Given the description of an element on the screen output the (x, y) to click on. 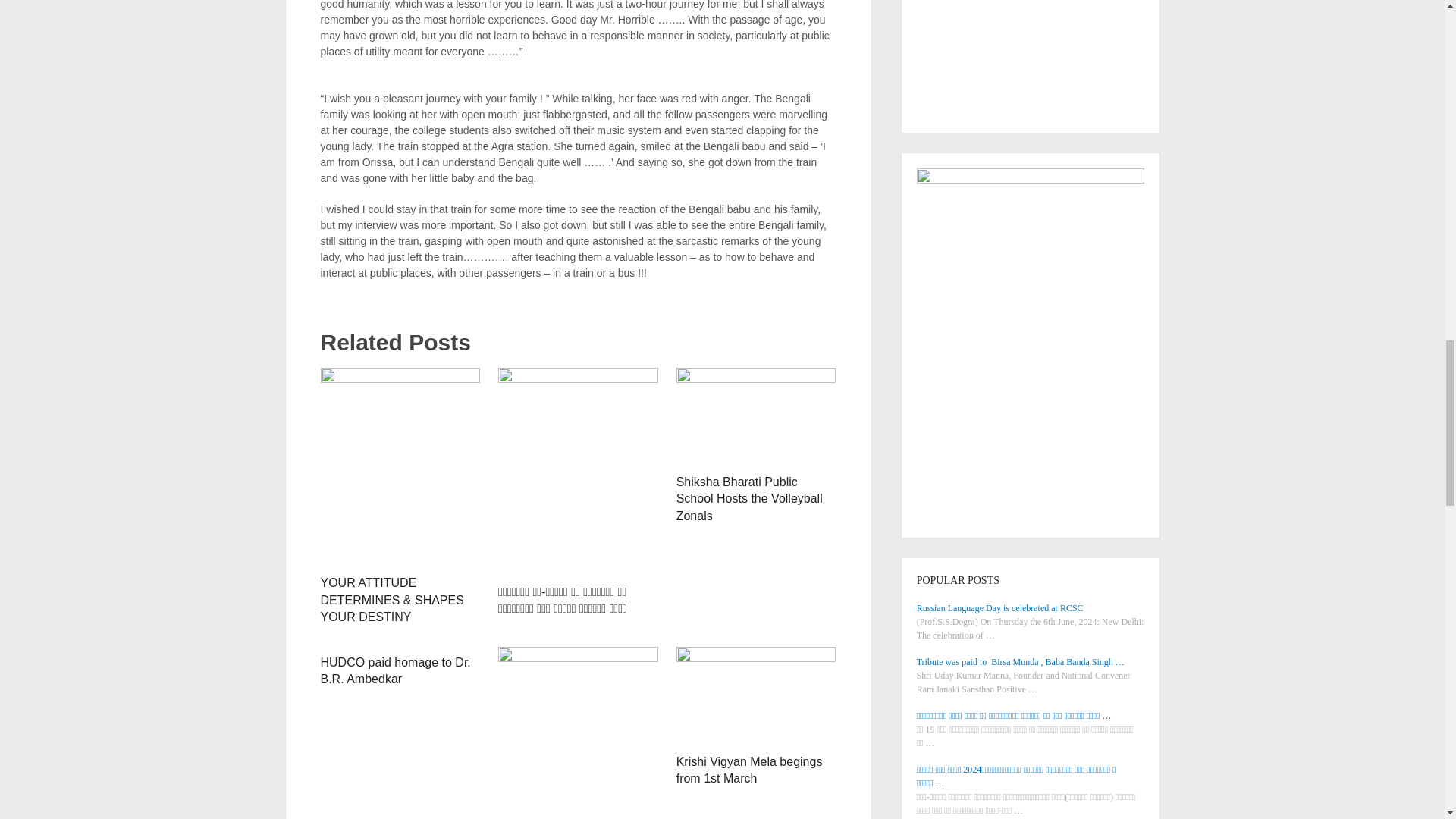
Shiksha Bharati Public School Hosts the Volleyball Zonals (749, 498)
Shiksha Bharati Public School Hosts the Volleyball Zonals (756, 416)
HUDCO paid homage to Dr. B.R. Ambedkar (395, 670)
